Given the description of an element on the screen output the (x, y) to click on. 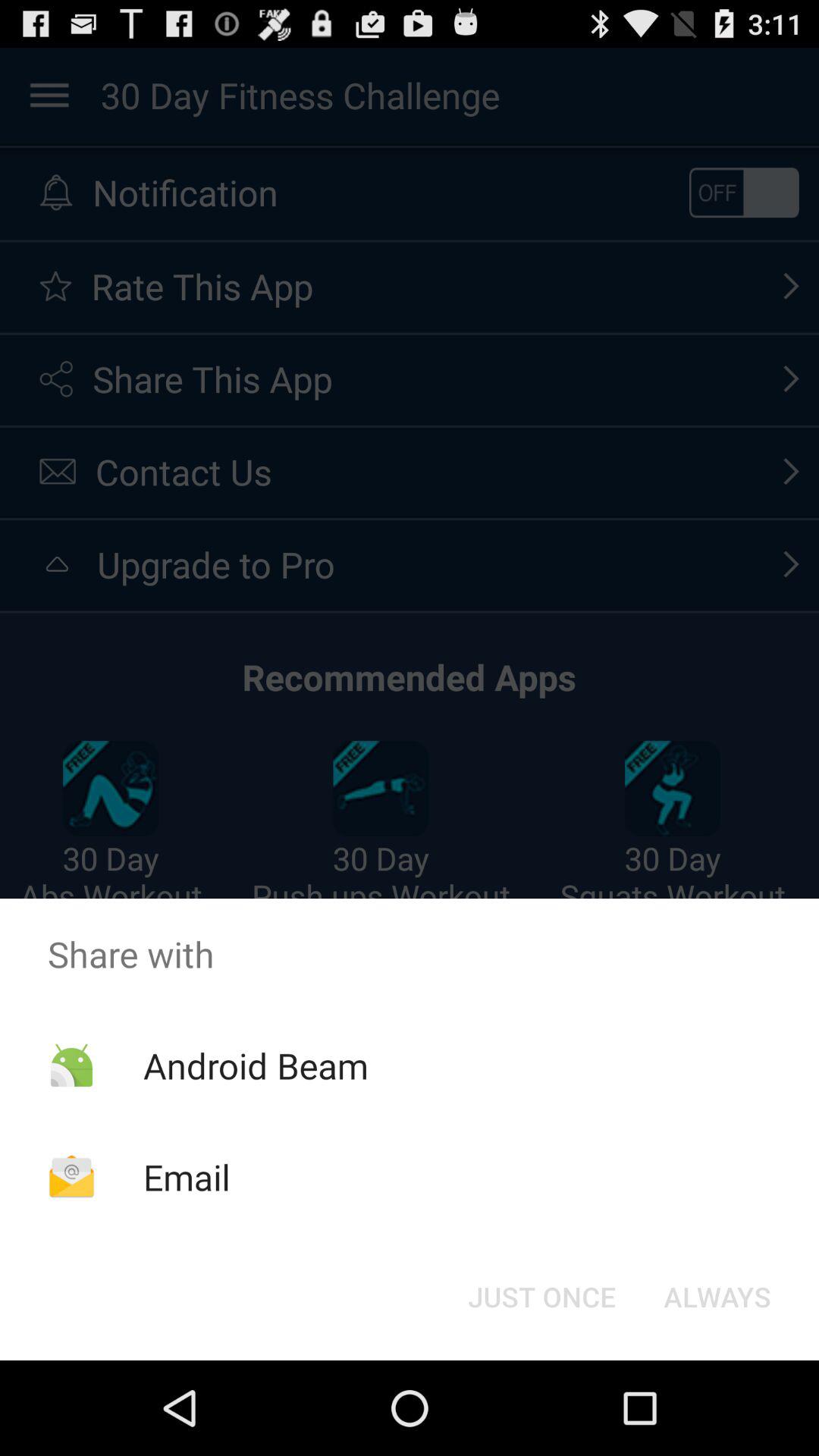
select item next to the always item (541, 1296)
